Given the description of an element on the screen output the (x, y) to click on. 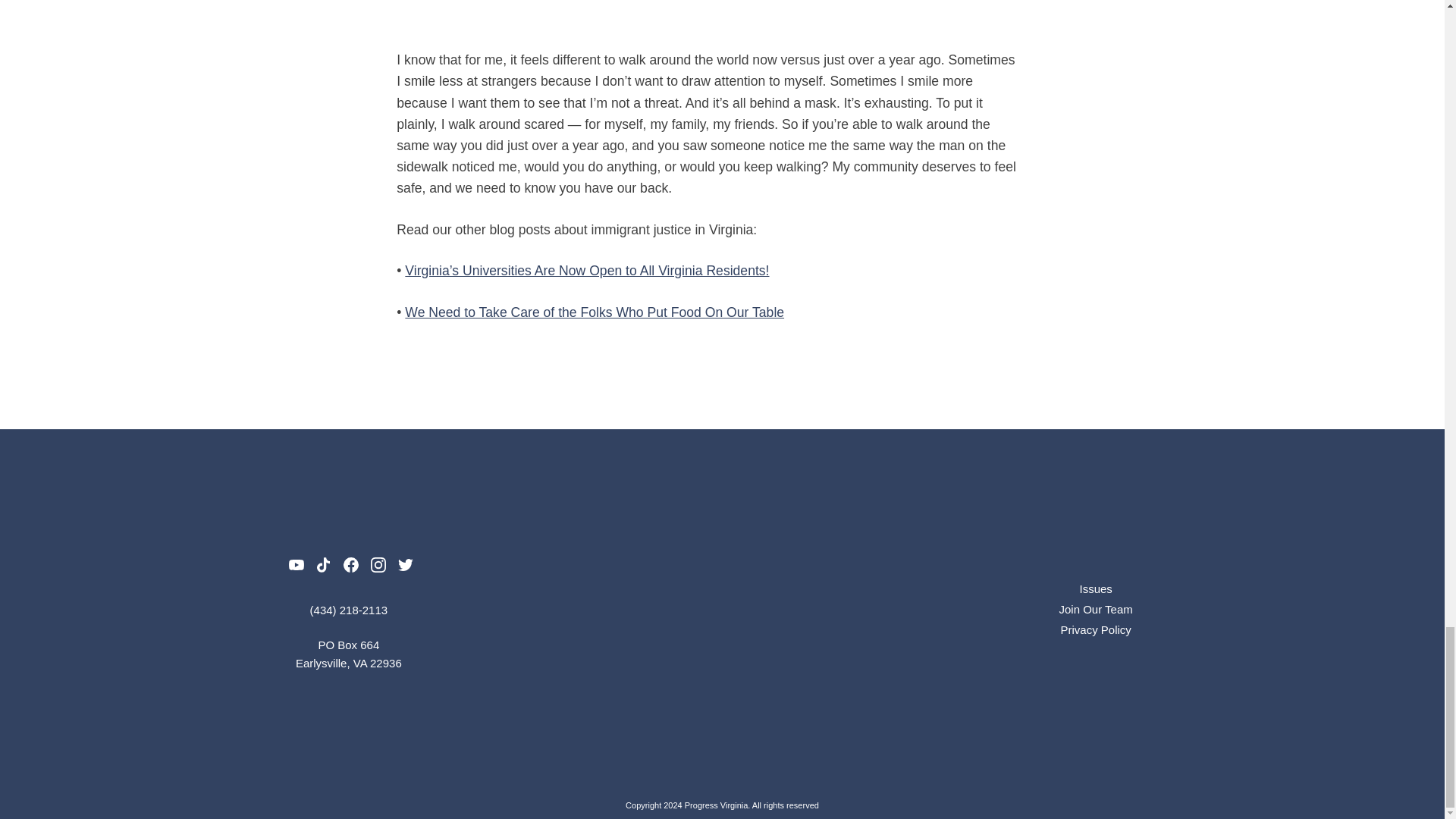
We Need to Take Care of the Folks Who Put Food On Our Table (594, 312)
